Given the description of an element on the screen output the (x, y) to click on. 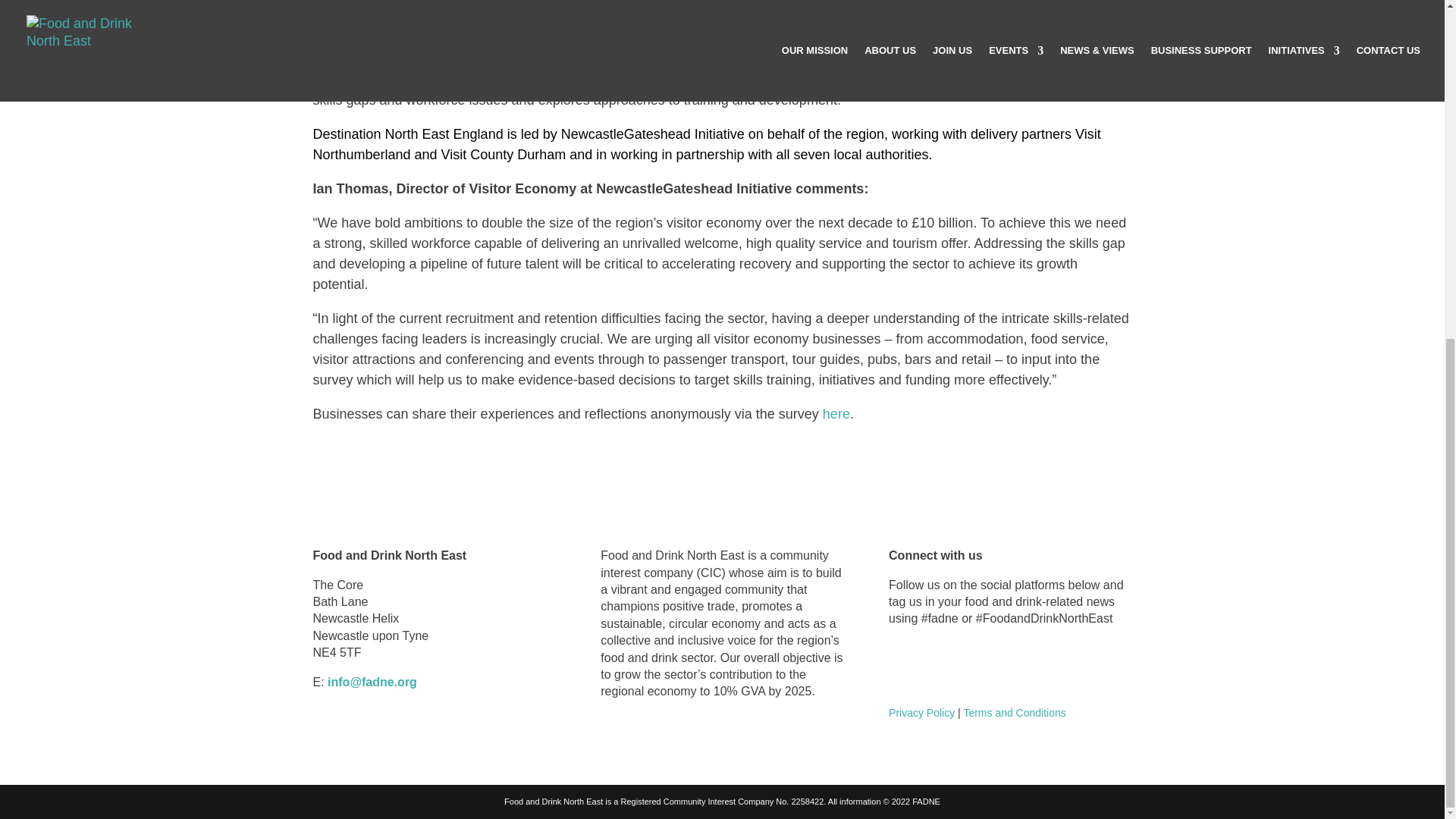
Follow on LinkedIn (900, 662)
Follow on Facebook (930, 662)
Follow on Instagram (991, 662)
here (836, 413)
Terms and Conditions (1013, 712)
comprehensive survey (695, 6)
Privacy Policy (921, 712)
Follow on Twitter (961, 662)
